Given the description of an element on the screen output the (x, y) to click on. 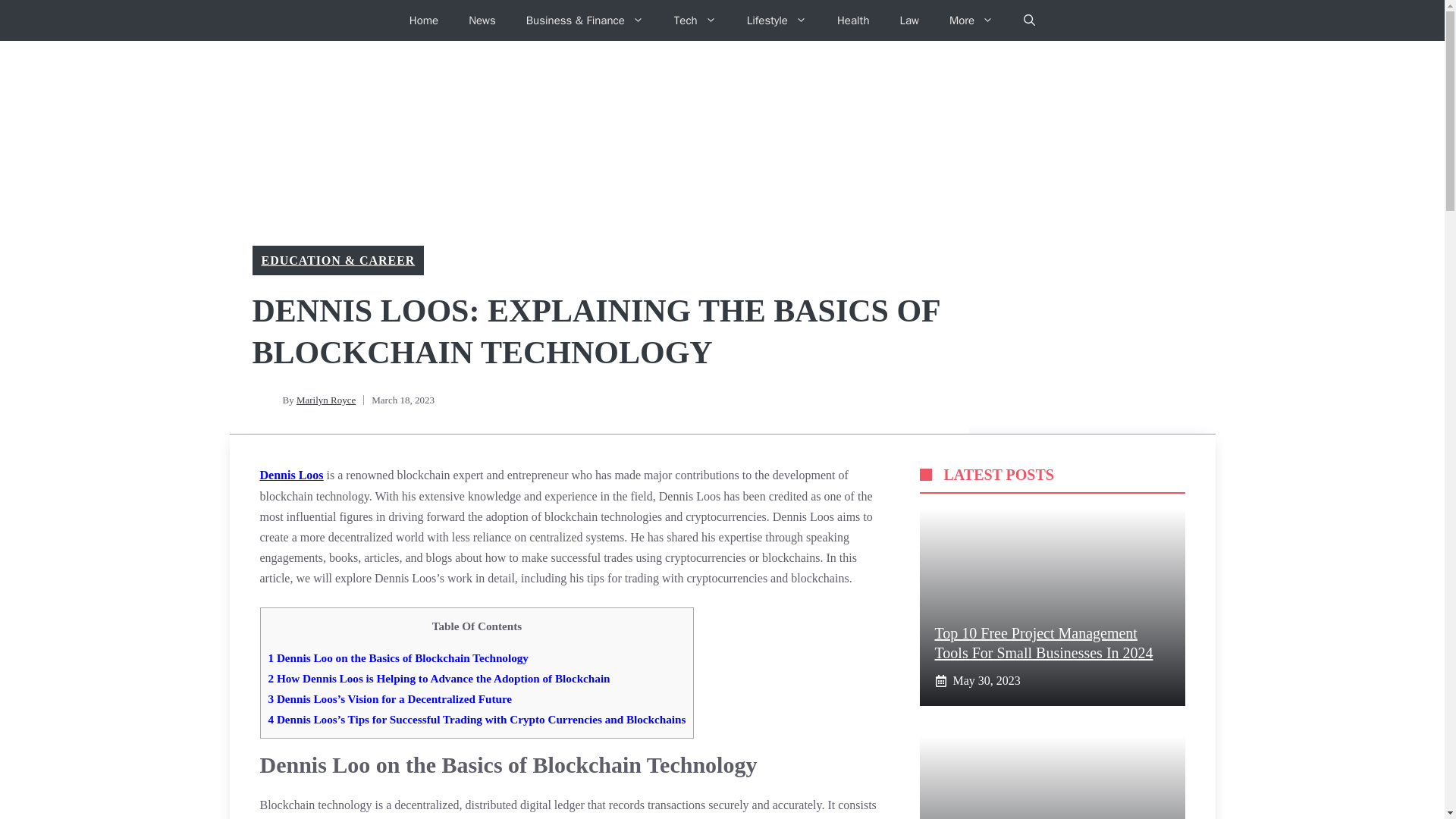
News (481, 20)
Tech (695, 20)
Lifestyle (777, 20)
Home (423, 20)
